Given the description of an element on the screen output the (x, y) to click on. 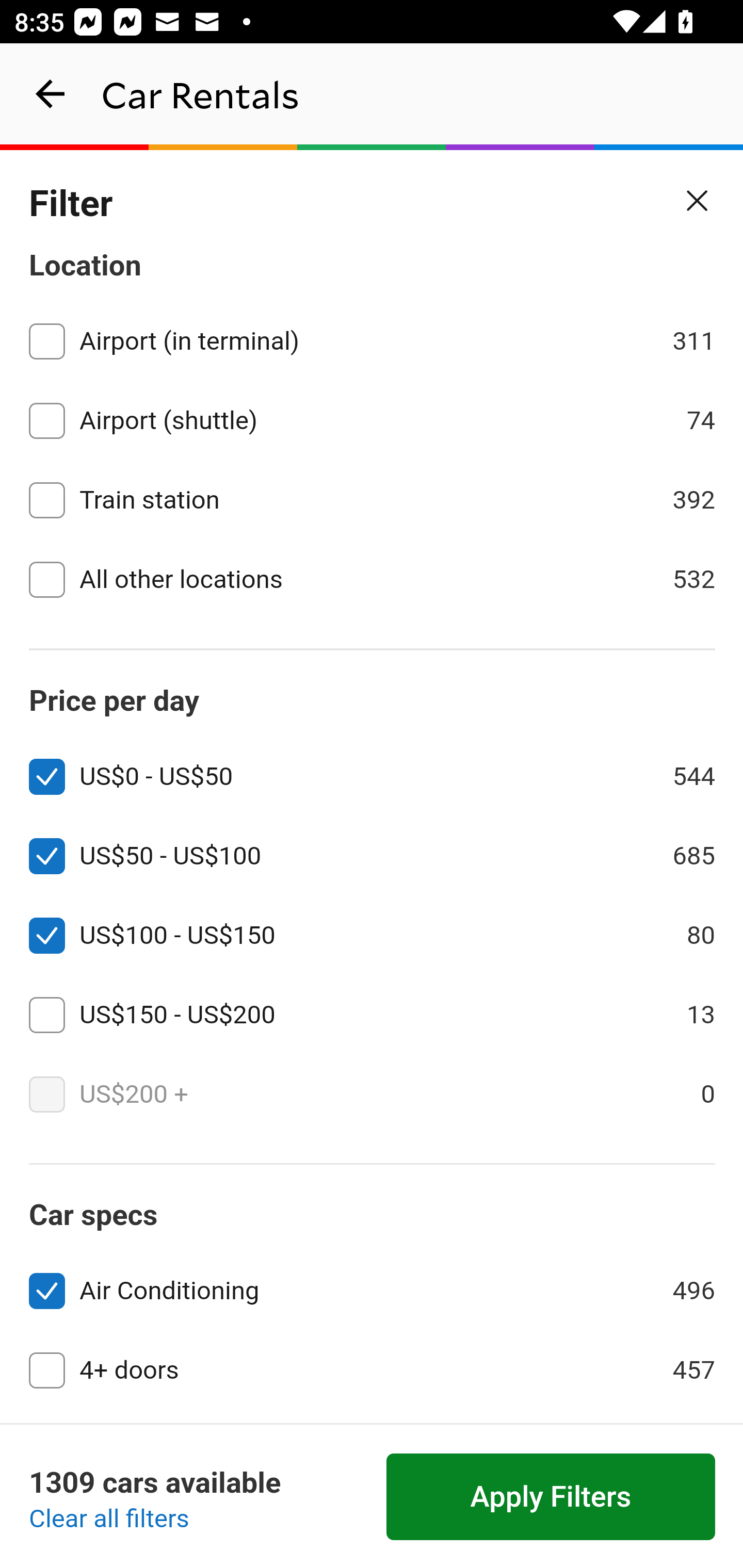
navigation_button (50, 93)
Close (697, 201)
Apply Filters (551, 1497)
Clear all filters (108, 1519)
